Given the description of an element on the screen output the (x, y) to click on. 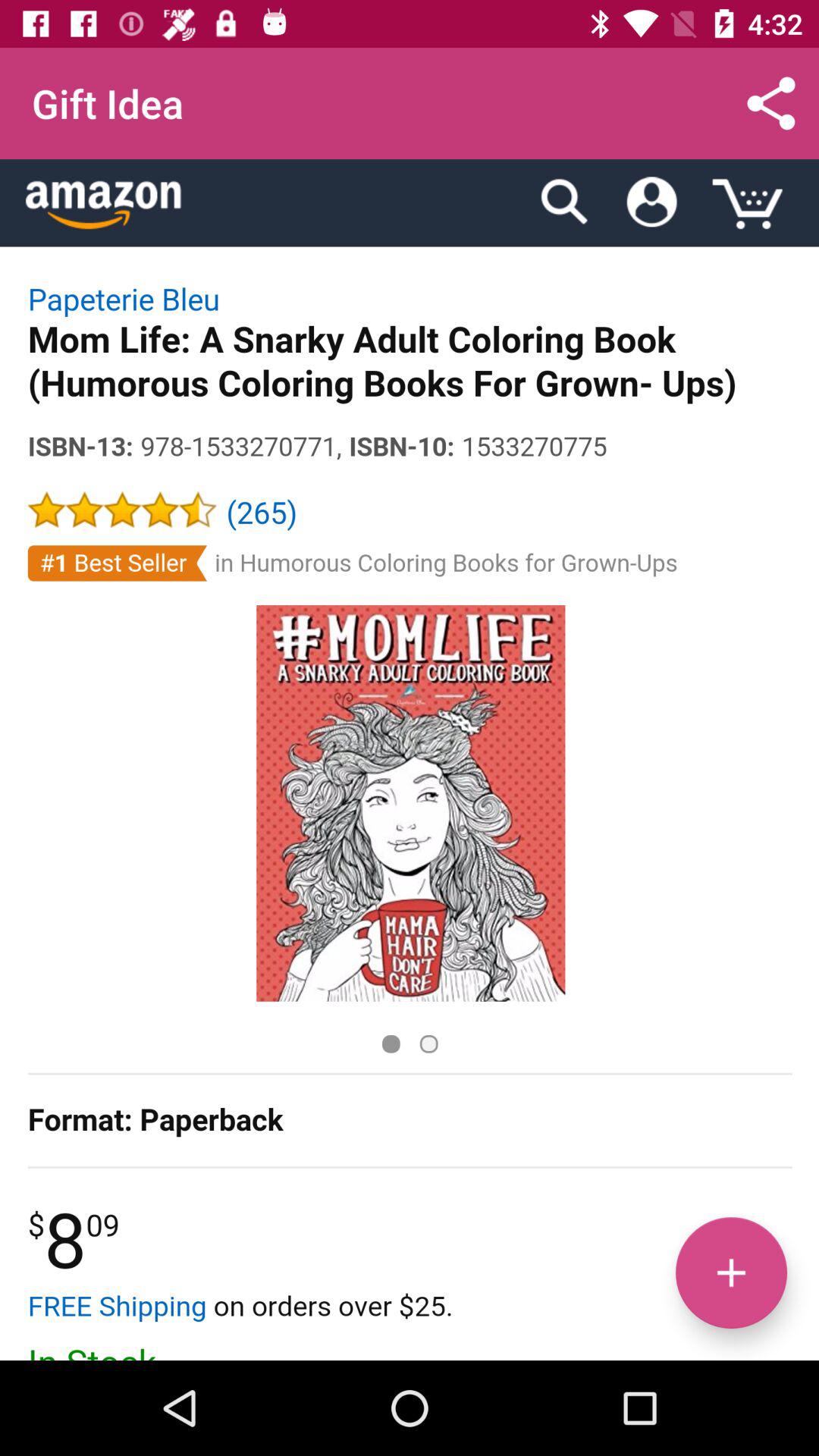
go to increase (731, 1272)
